Given the description of an element on the screen output the (x, y) to click on. 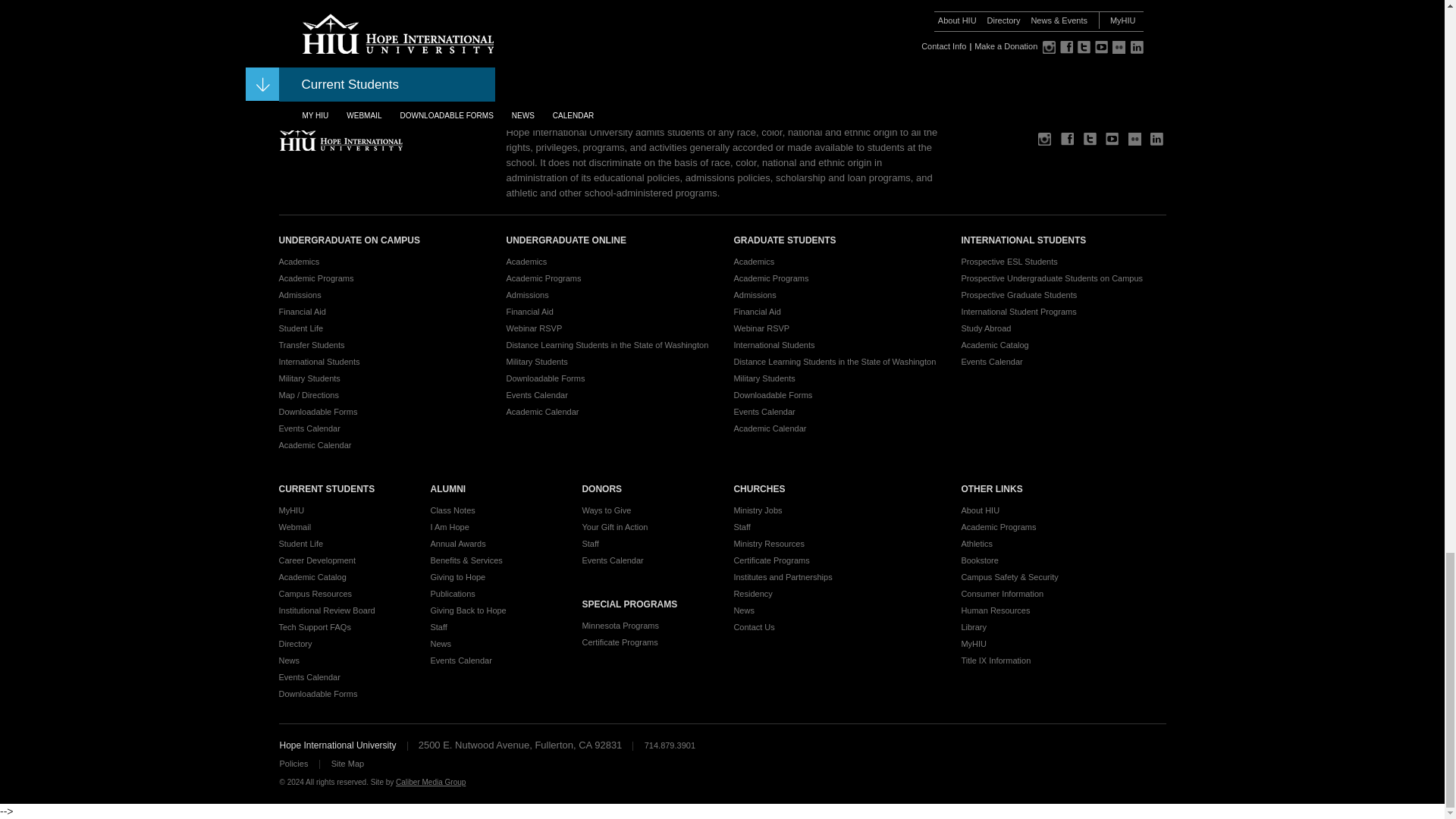
Caliber Media Group (430, 782)
Site Map (347, 763)
Policies (293, 763)
